Given the description of an element on the screen output the (x, y) to click on. 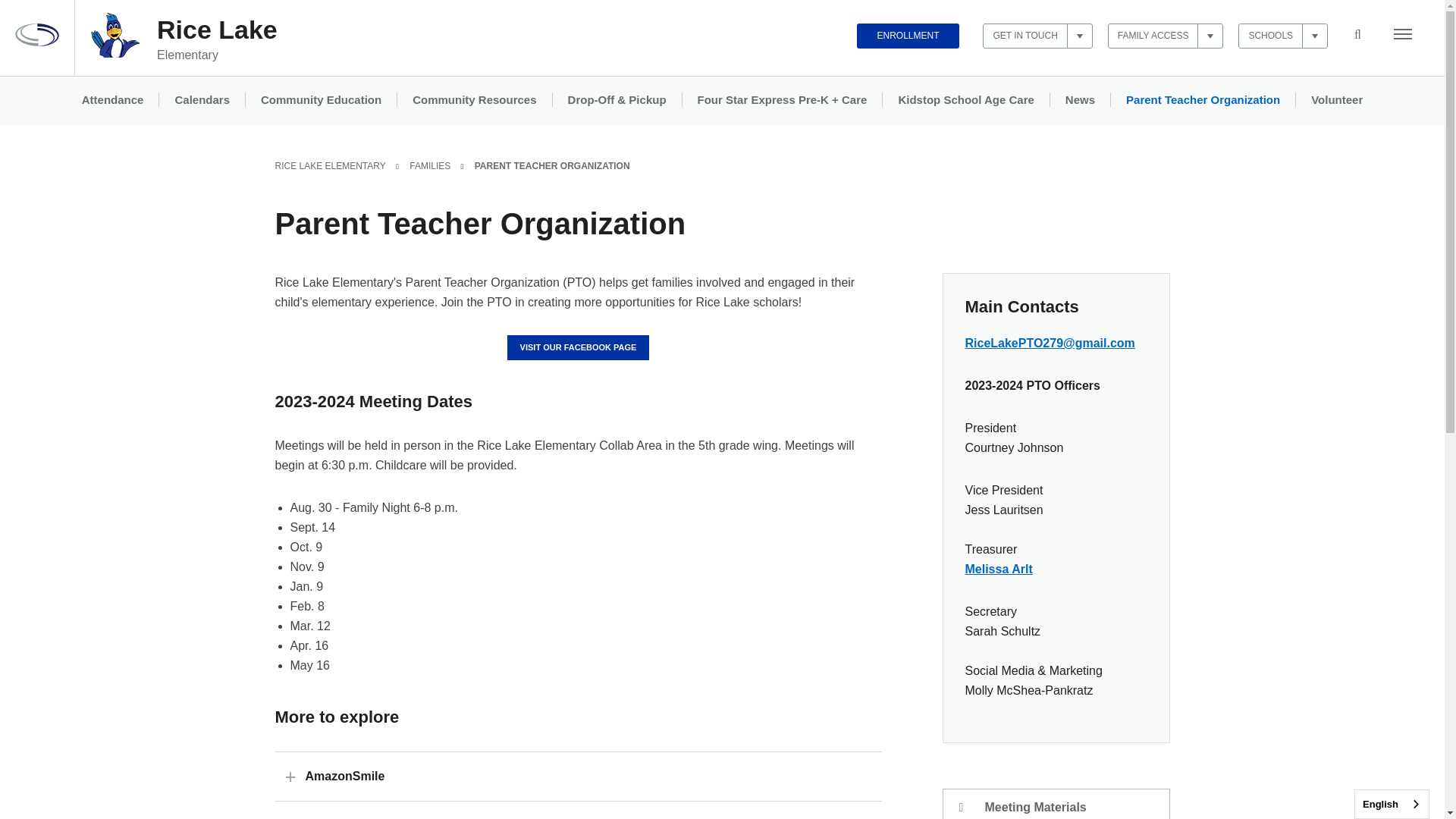
Attendance (112, 99)
Parent Teacher Organization (1202, 99)
ISD 279 Osseo Area Schools (36, 42)
Volunteer (1336, 99)
Kidstop School Age Care (965, 99)
Rice Lake Elementary (217, 38)
GET IN TOUCH (1037, 35)
News (1080, 99)
Rice Lake Elementary (114, 52)
FAMILY ACCESS (1166, 35)
